Given the description of an element on the screen output the (x, y) to click on. 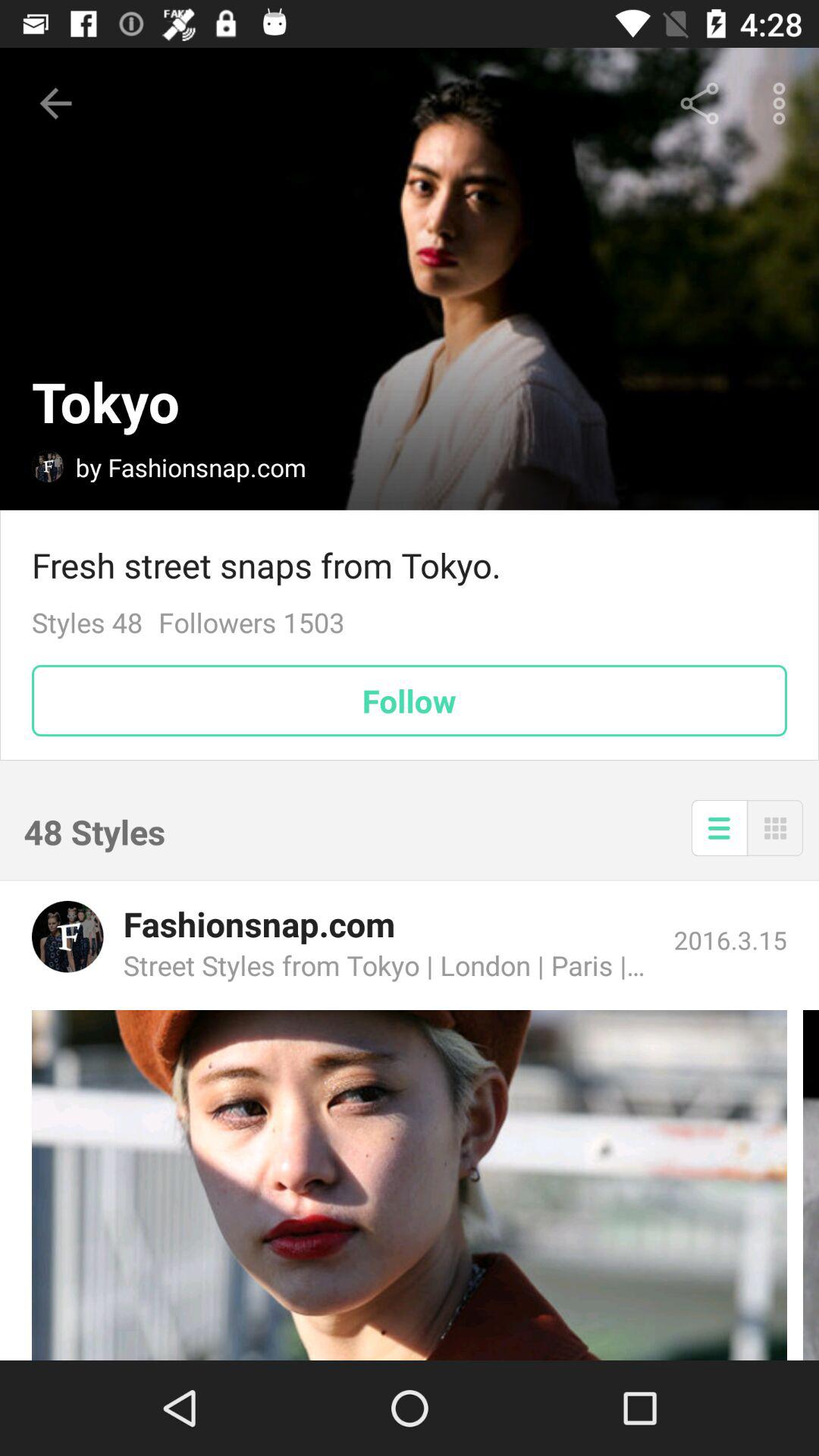
open the item next to 48 styles (718, 827)
